Given the description of an element on the screen output the (x, y) to click on. 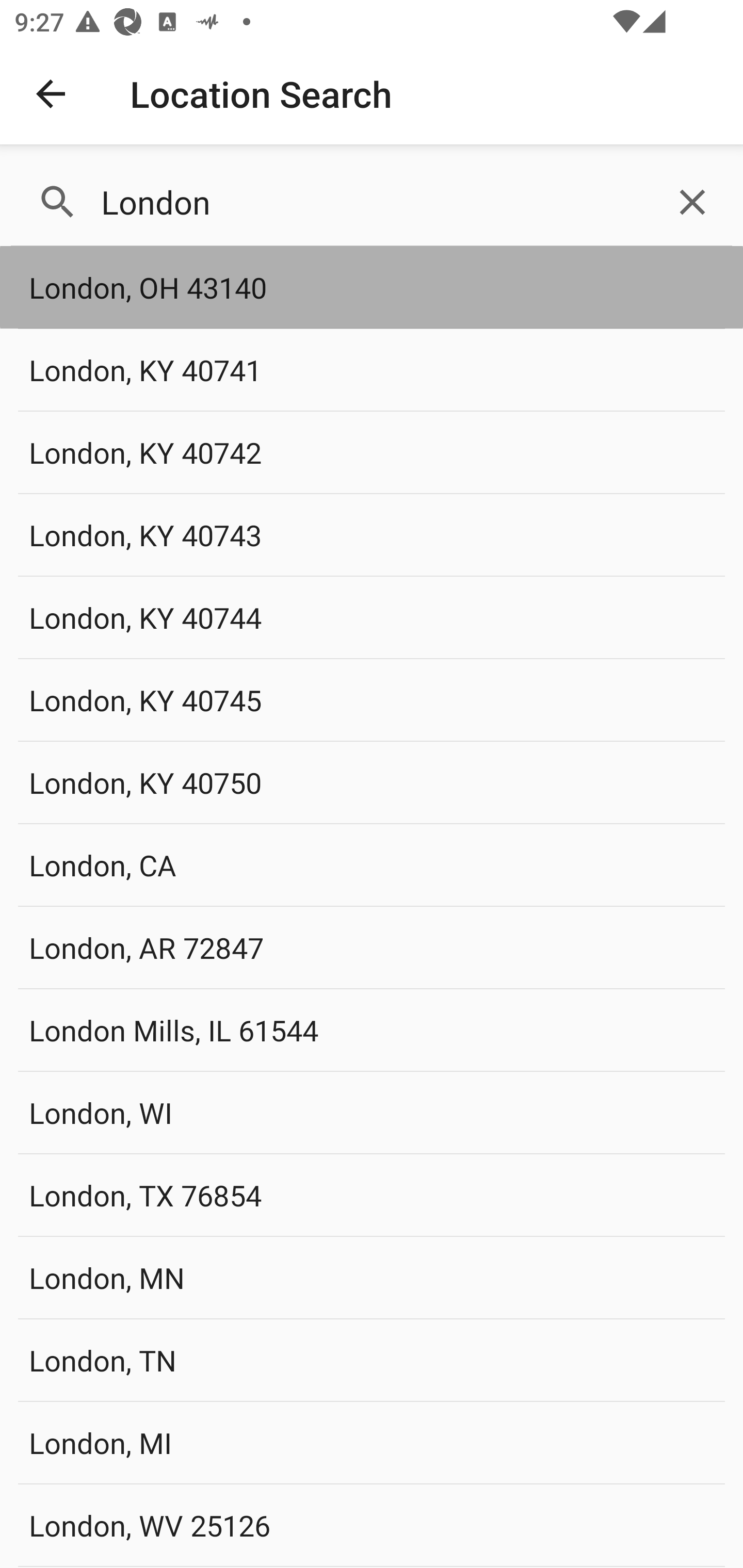
Navigate up (50, 93)
Clear query (692, 202)
London (371, 202)
London, OH 43140 (371, 287)
London, KY 40741 (371, 369)
London, KY 40742 (371, 451)
London, KY 40743 (371, 534)
London, KY 40744 (371, 616)
London, KY 40745 (371, 699)
London, KY 40750 (371, 782)
London, CA (371, 864)
London, AR 72847 (371, 947)
London Mills, IL 61544 (371, 1029)
London, WI (371, 1112)
London, TX 76854 (371, 1194)
London, MN (371, 1276)
London, TN (371, 1359)
London, MI (371, 1442)
London, WV 25126 (371, 1524)
London Springs, OR (371, 1567)
